Given the description of an element on the screen output the (x, y) to click on. 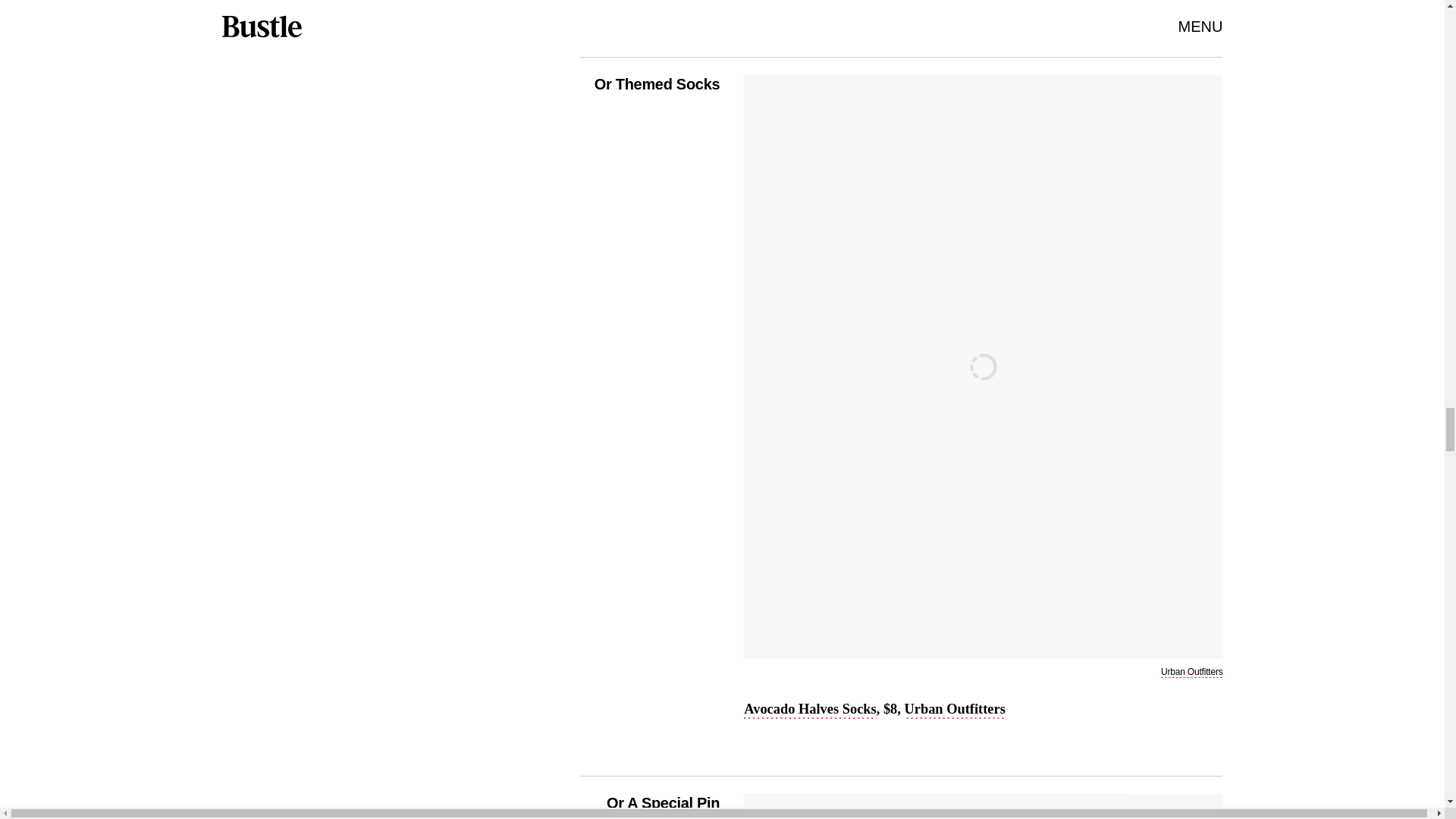
Urban Outfitters (954, 710)
Avocado Halves Socks (810, 710)
Urban Outfitters (1191, 671)
